Given the description of an element on the screen output the (x, y) to click on. 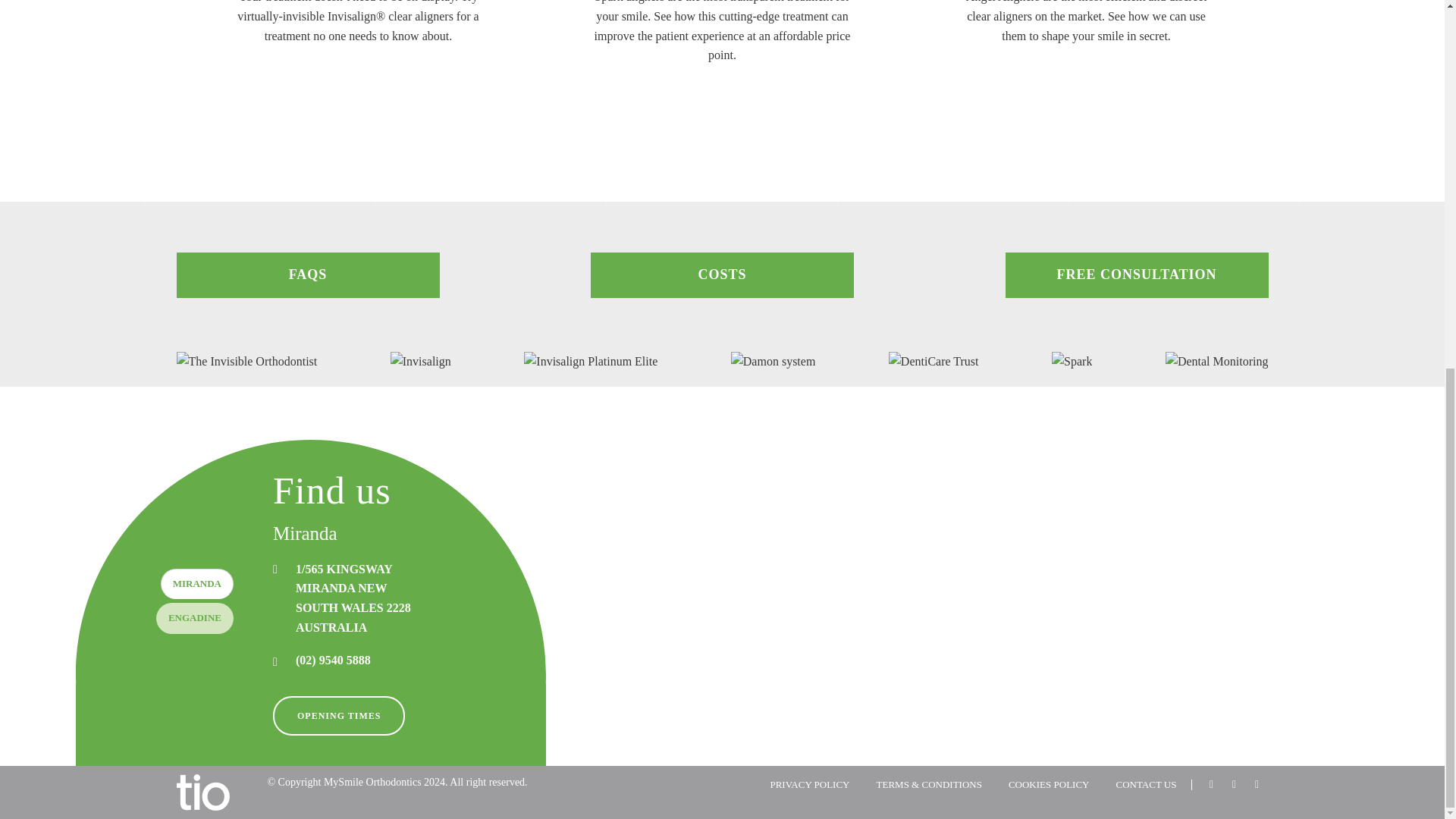
The Invisible Orthodontist (246, 361)
Invisalign (307, 287)
